Given the description of an element on the screen output the (x, y) to click on. 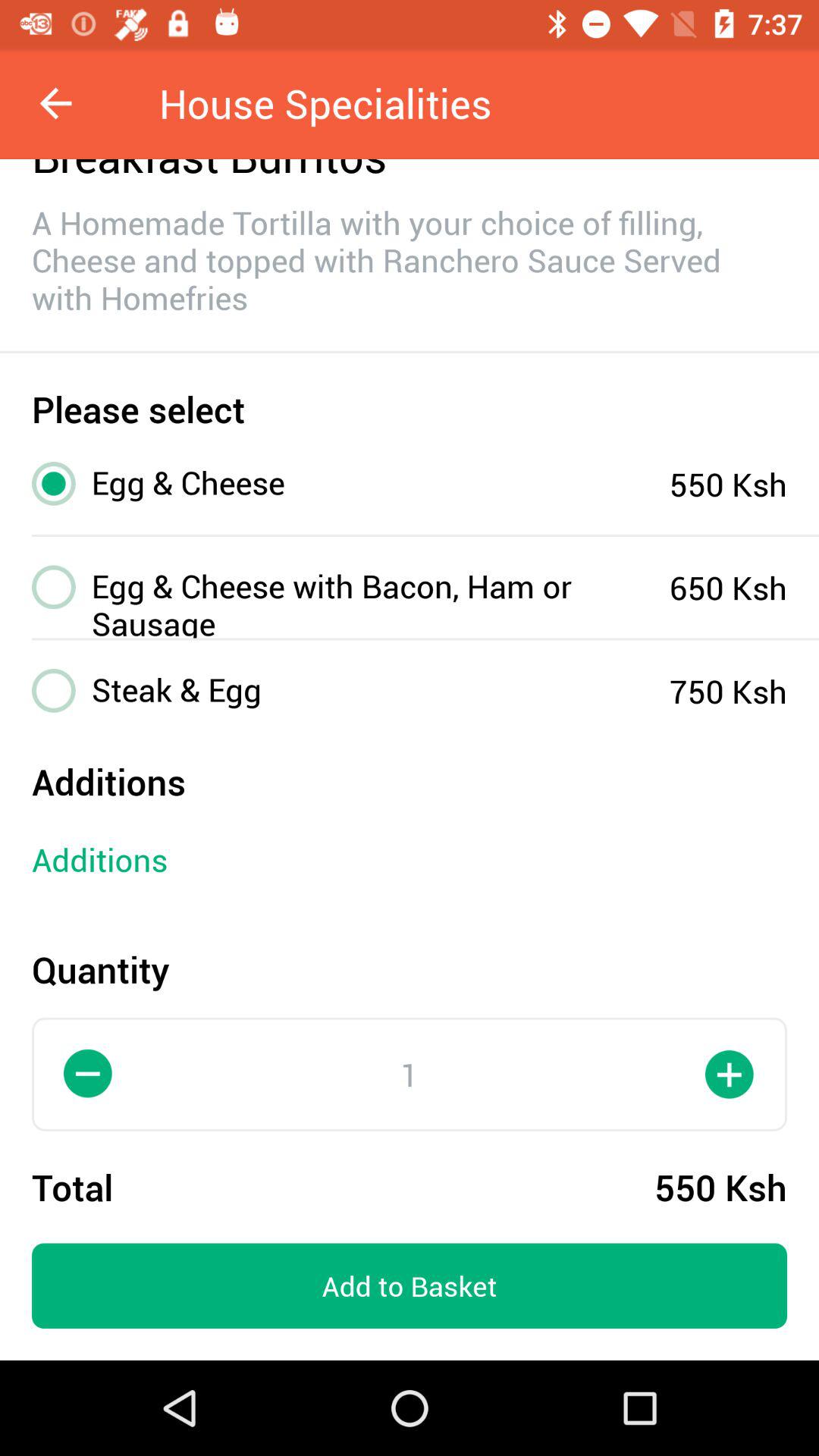
press icon above total (88, 1074)
